Given the description of an element on the screen output the (x, y) to click on. 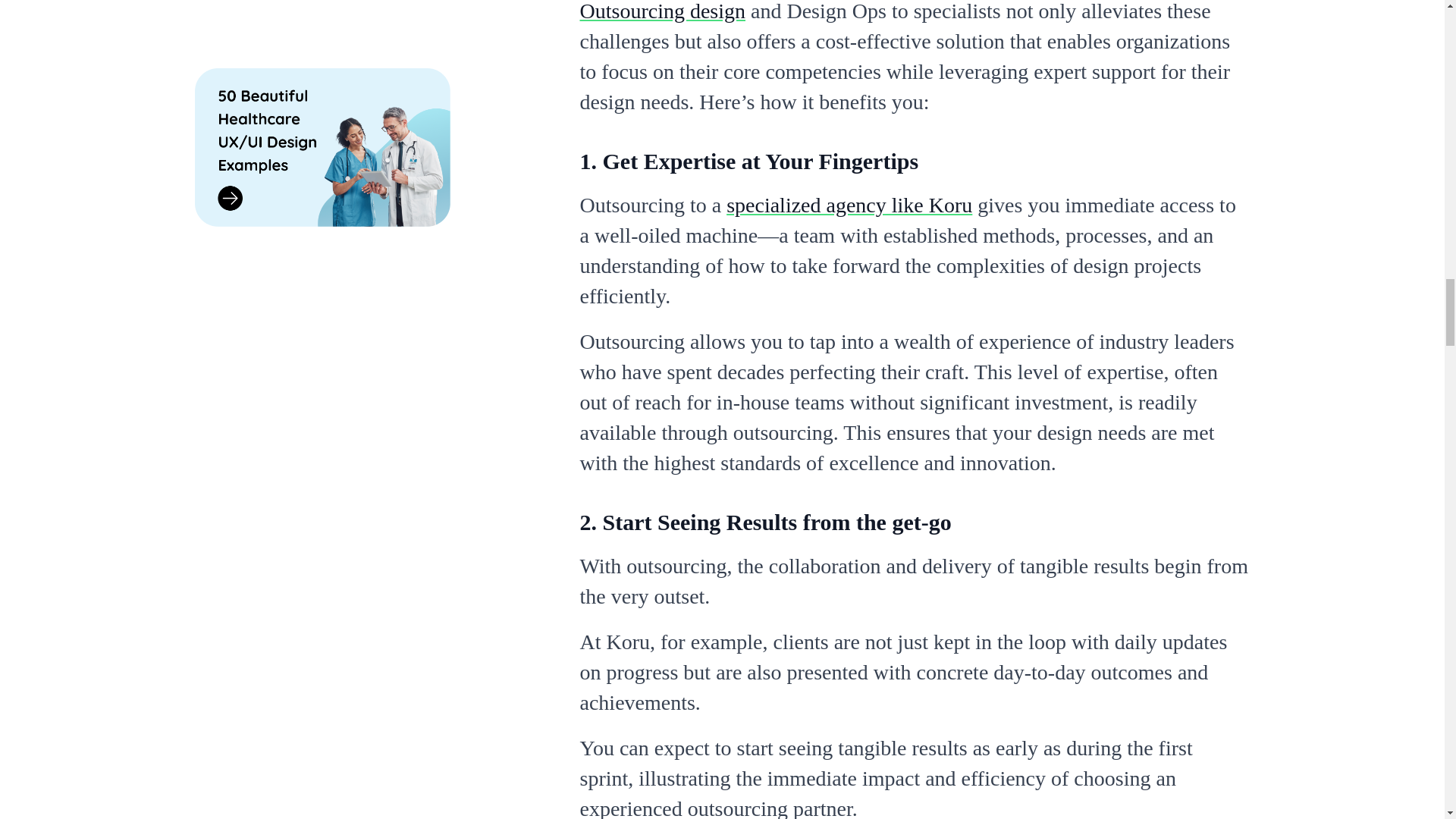
specialized agency like Koru (849, 205)
Outsourcing design (662, 11)
